Given the description of an element on the screen output the (x, y) to click on. 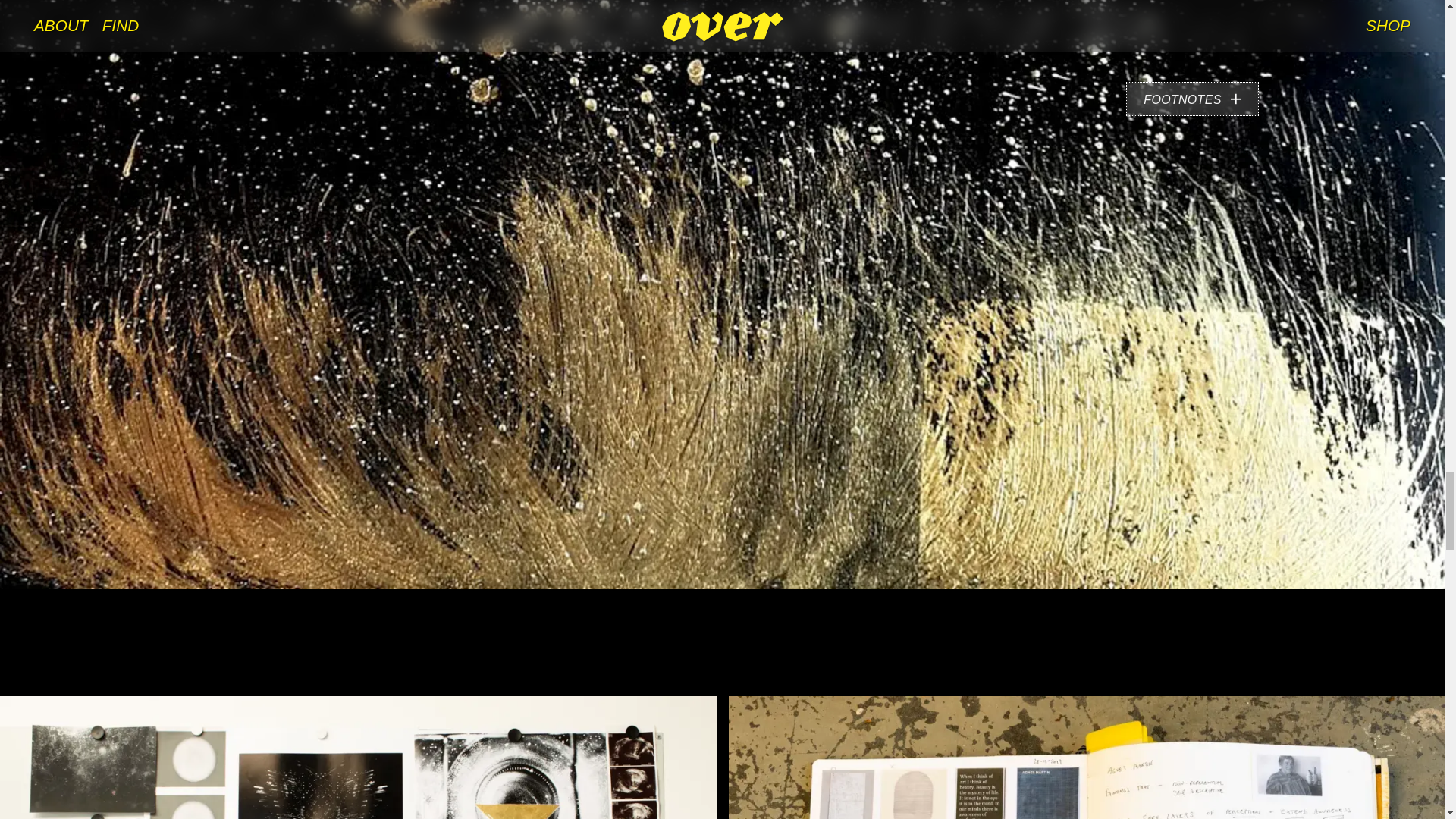
Yvette Monahan, pin board. (358, 757)
